Given the description of an element on the screen output the (x, y) to click on. 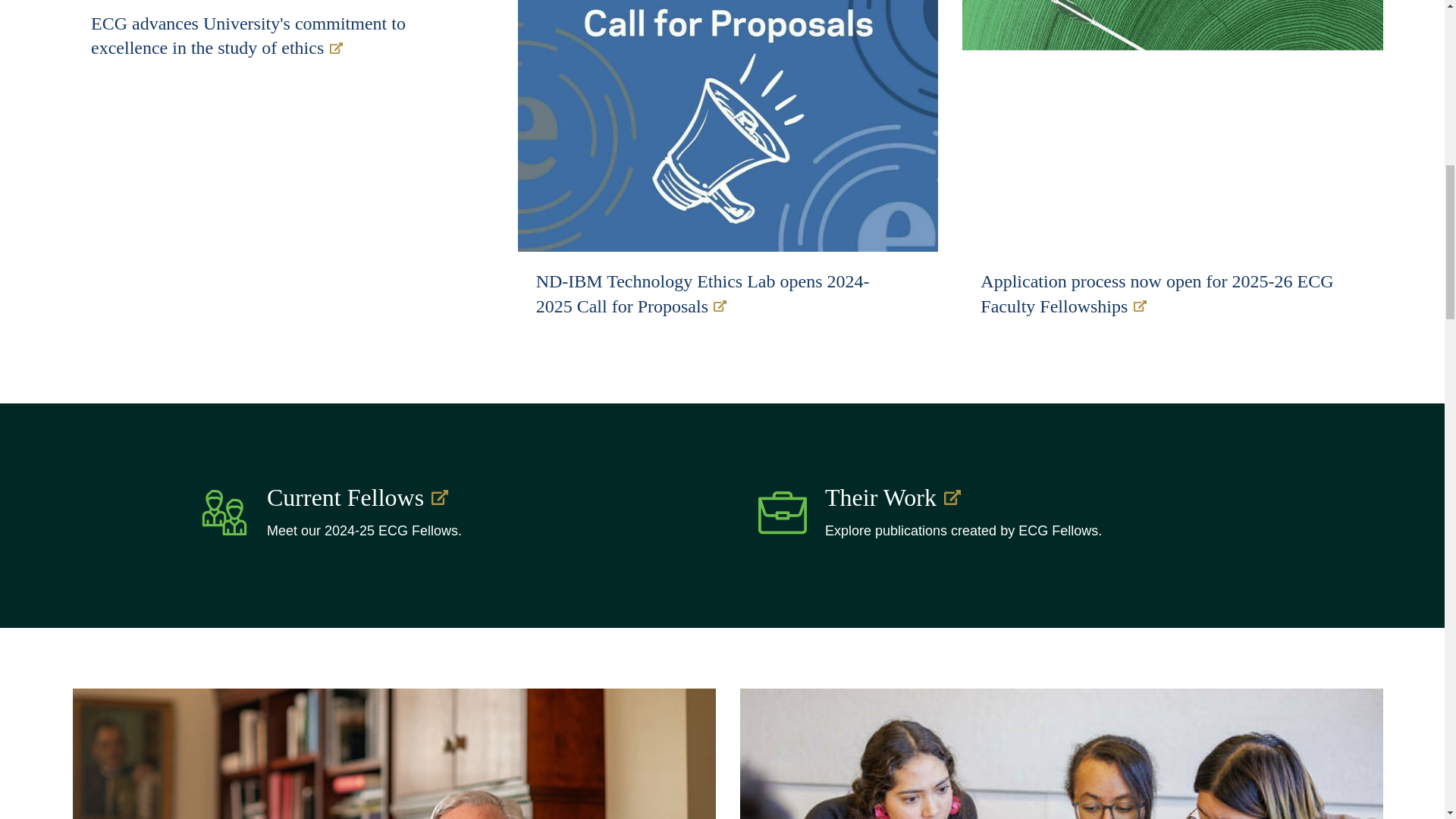
Current Fellows (472, 498)
Their Work (1031, 498)
